Given the description of an element on the screen output the (x, y) to click on. 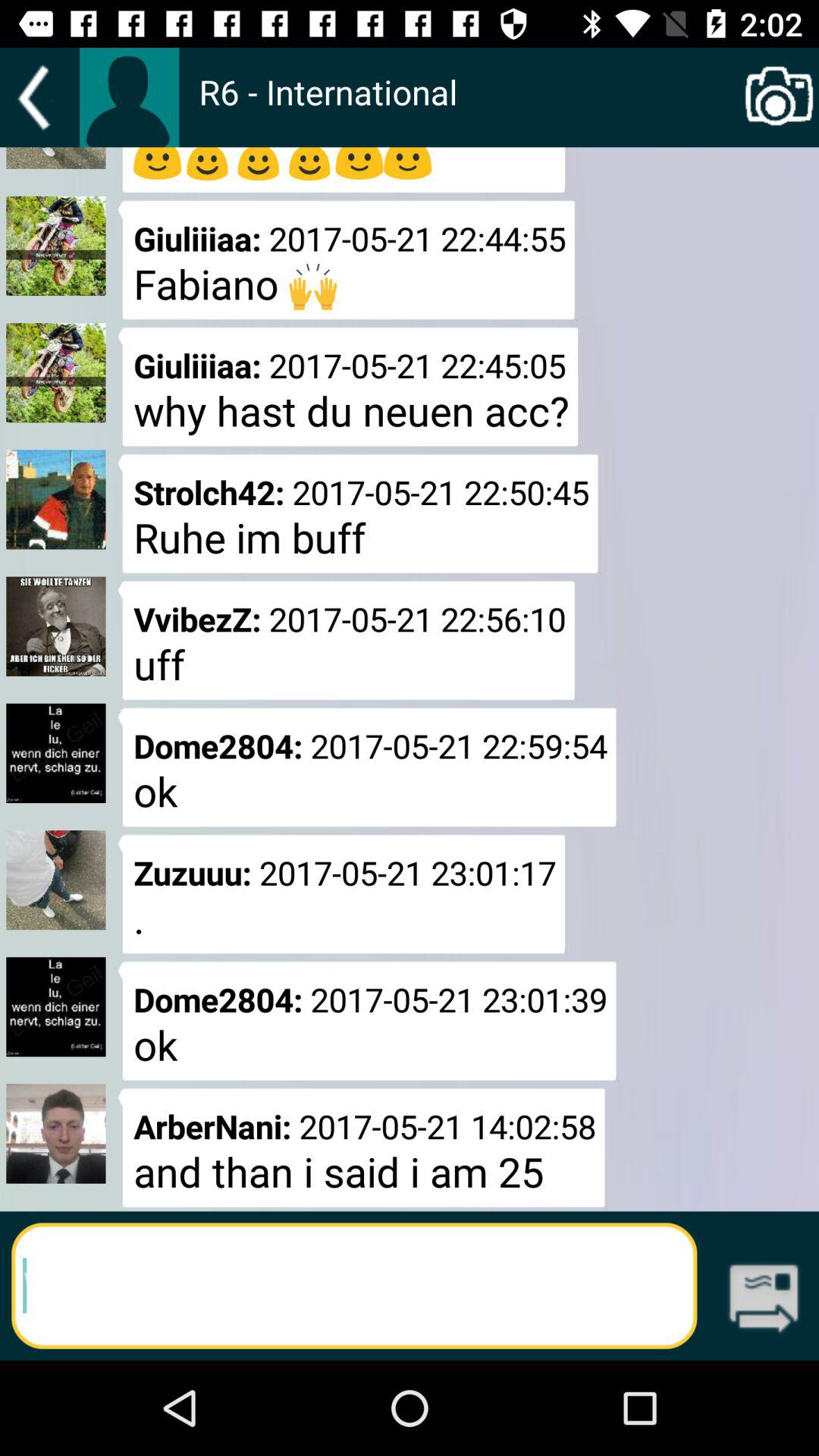
tap r6 - international app (469, 107)
